Given the description of an element on the screen output the (x, y) to click on. 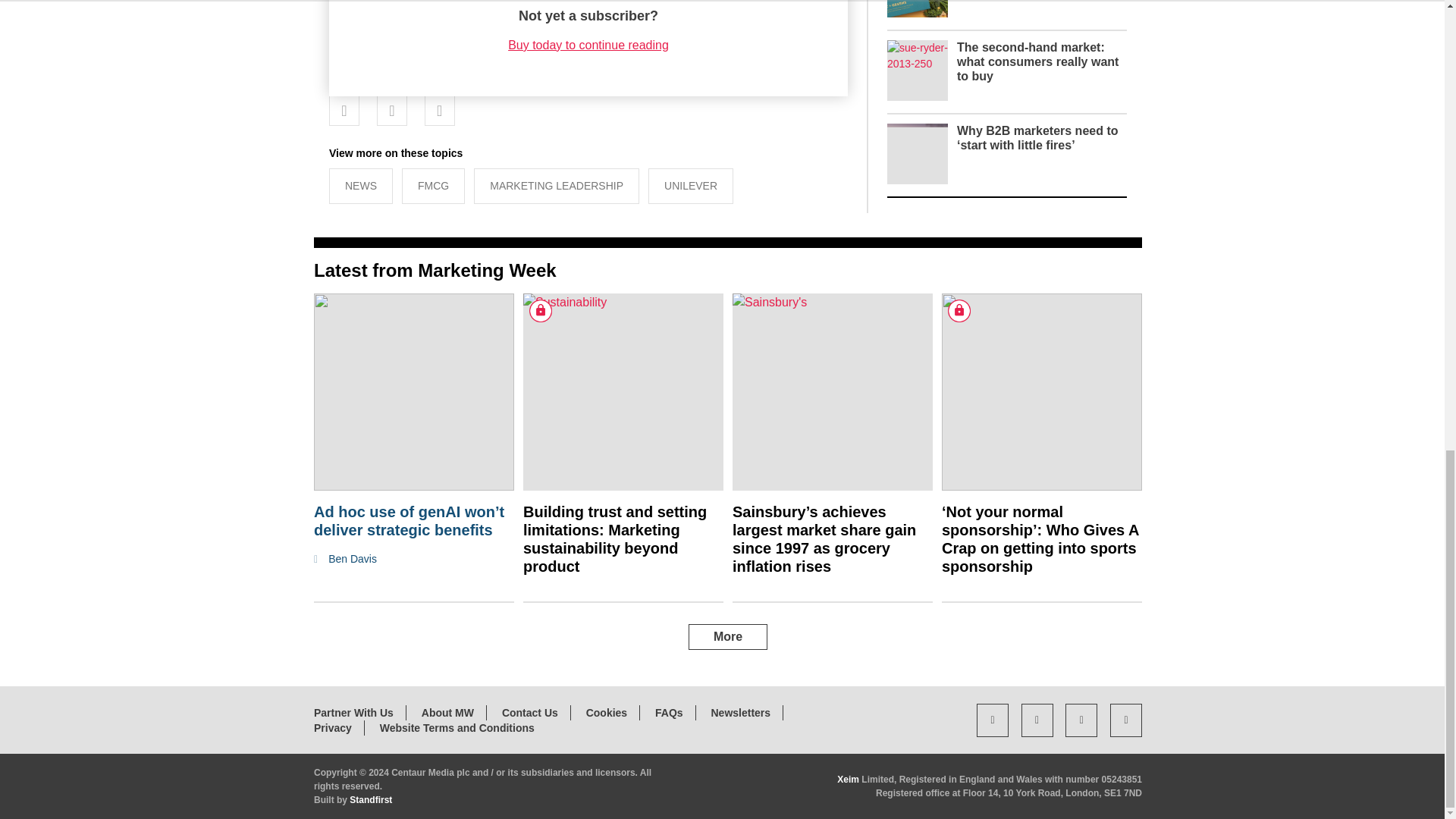
NEWS (361, 185)
Buy today to continue reading (588, 44)
MARKETING LEADERSHIP (556, 185)
Privacy (333, 727)
UNILEVER (690, 185)
FMCG (432, 185)
